Given the description of an element on the screen output the (x, y) to click on. 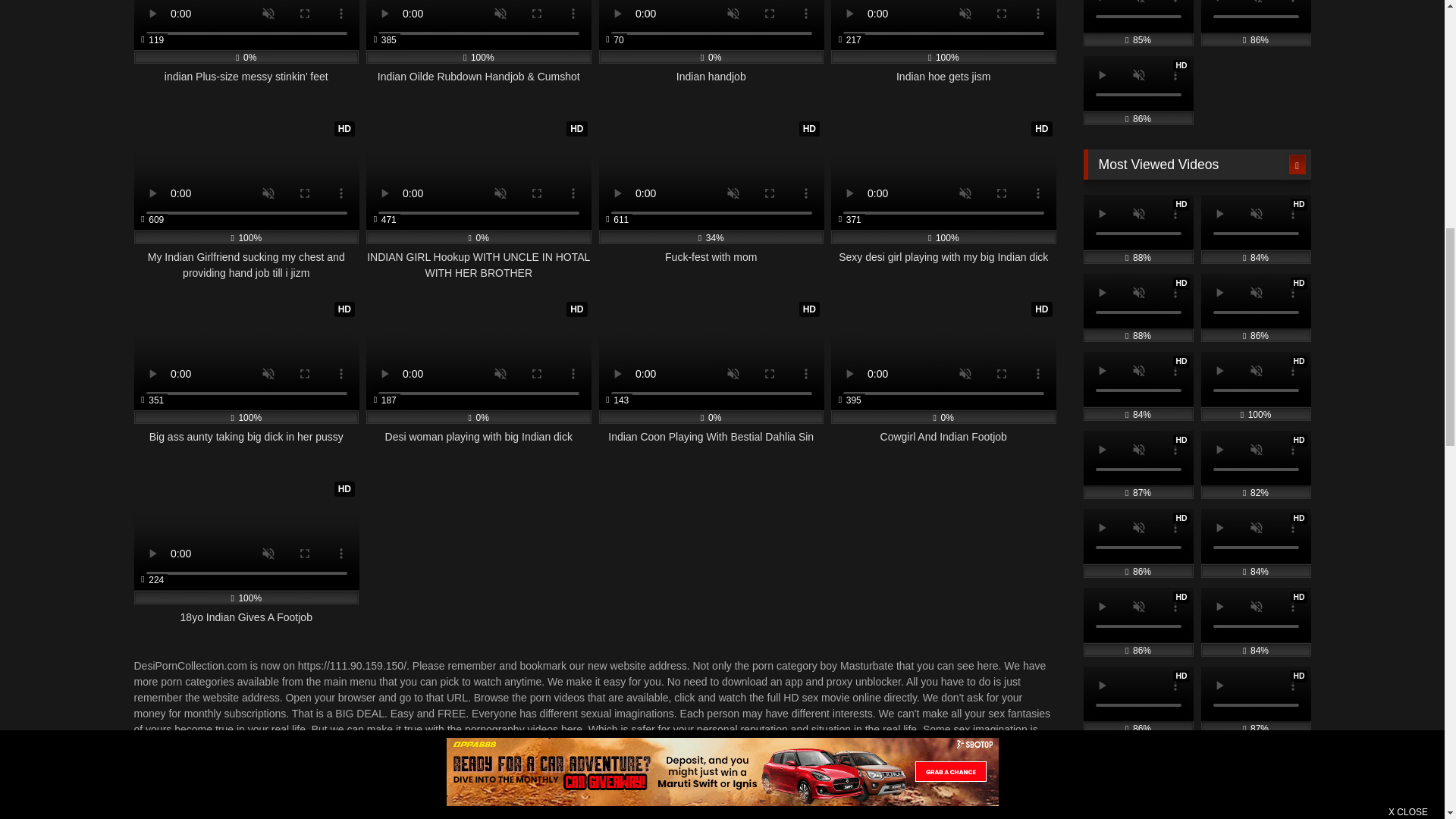
Indian hoe gets jism (944, 50)
Indian handjob (711, 50)
